Given the description of an element on the screen output the (x, y) to click on. 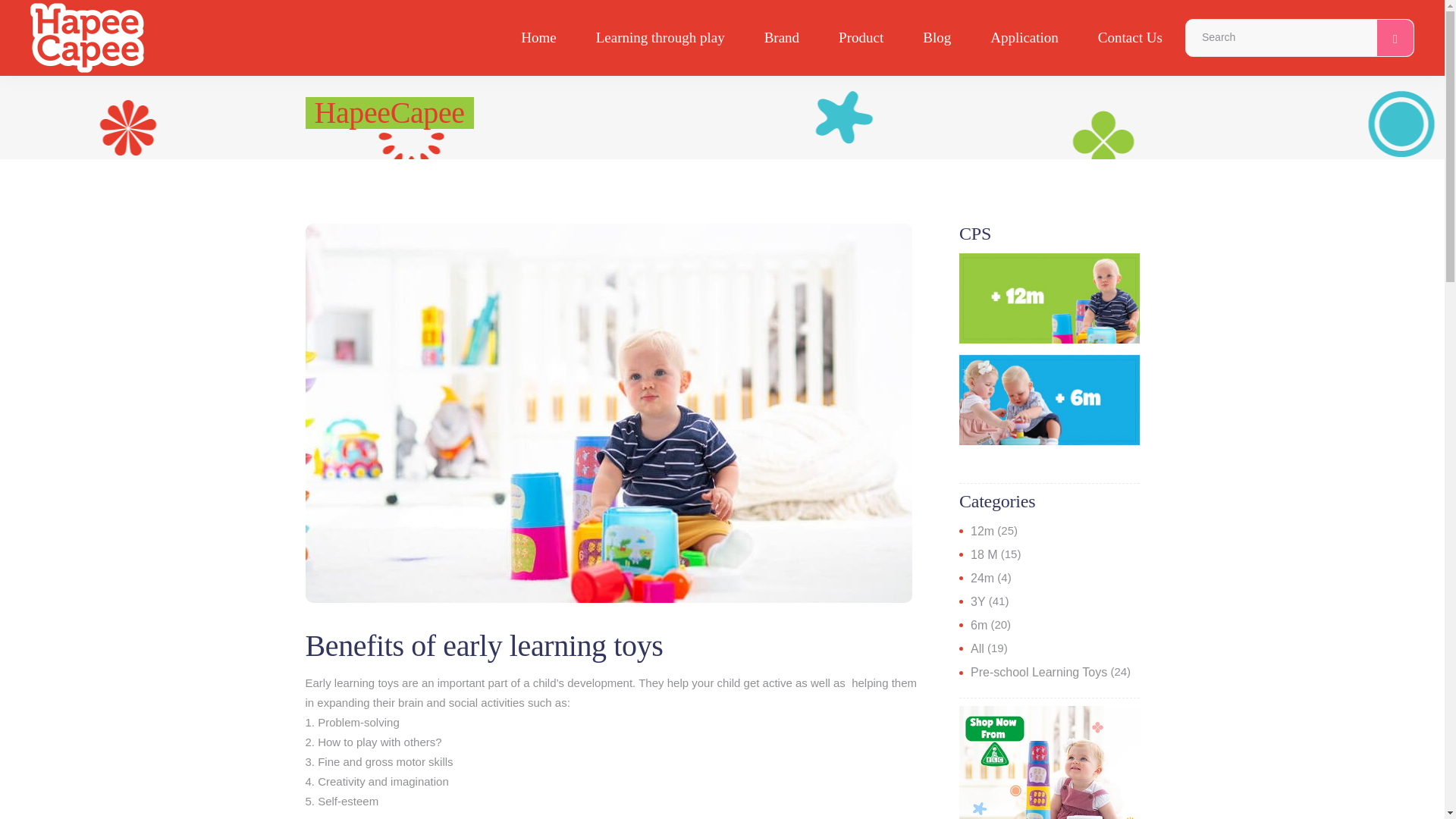
Product (860, 38)
Blog (936, 38)
Search for: (1281, 37)
Contact Us (1130, 38)
Application (1024, 38)
18 M (984, 554)
12m (982, 530)
Home (537, 38)
Brand (781, 38)
Learning through play (660, 38)
